Given the description of an element on the screen output the (x, y) to click on. 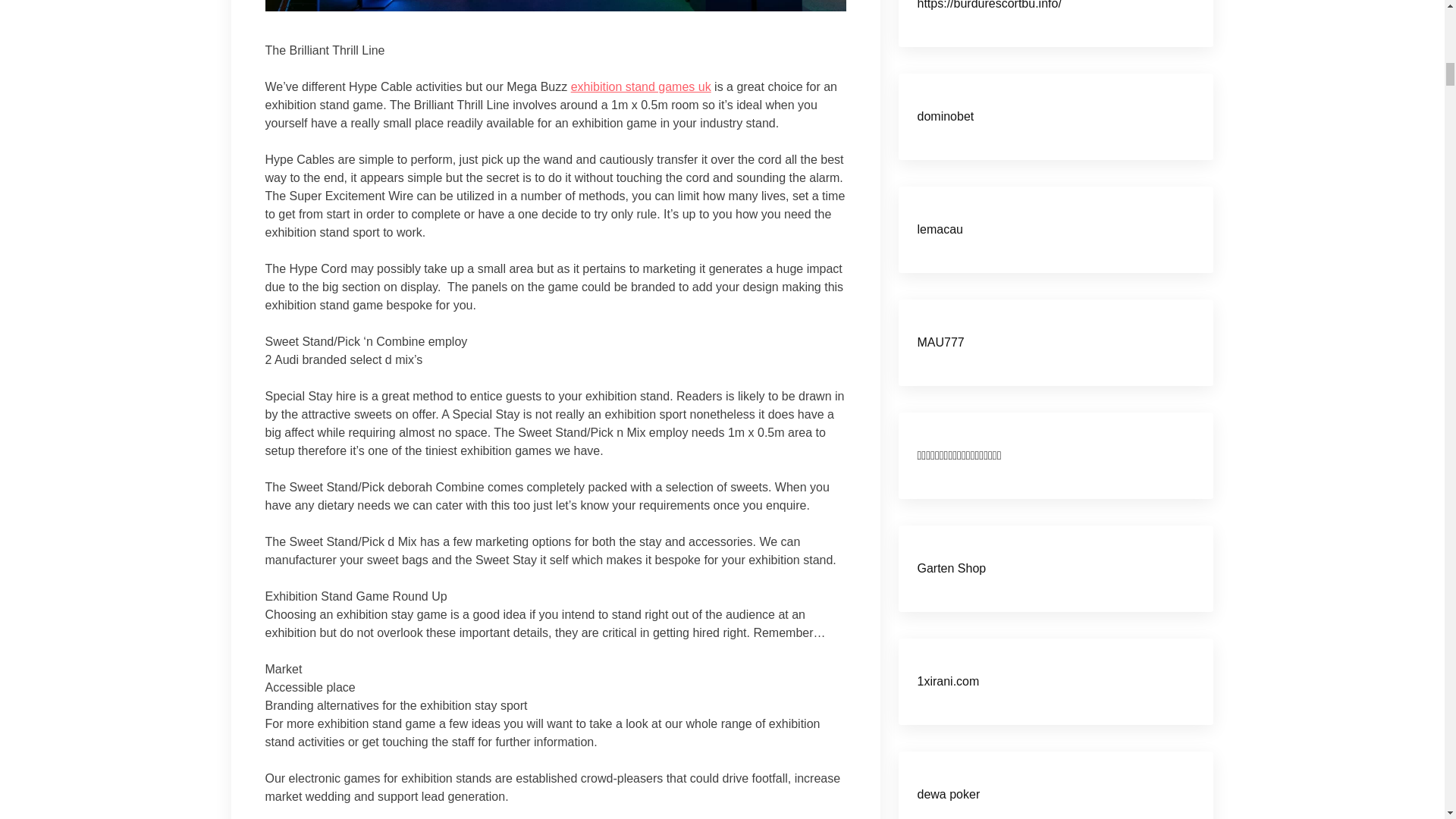
exhibition stand games uk (640, 86)
